Given the description of an element on the screen output the (x, y) to click on. 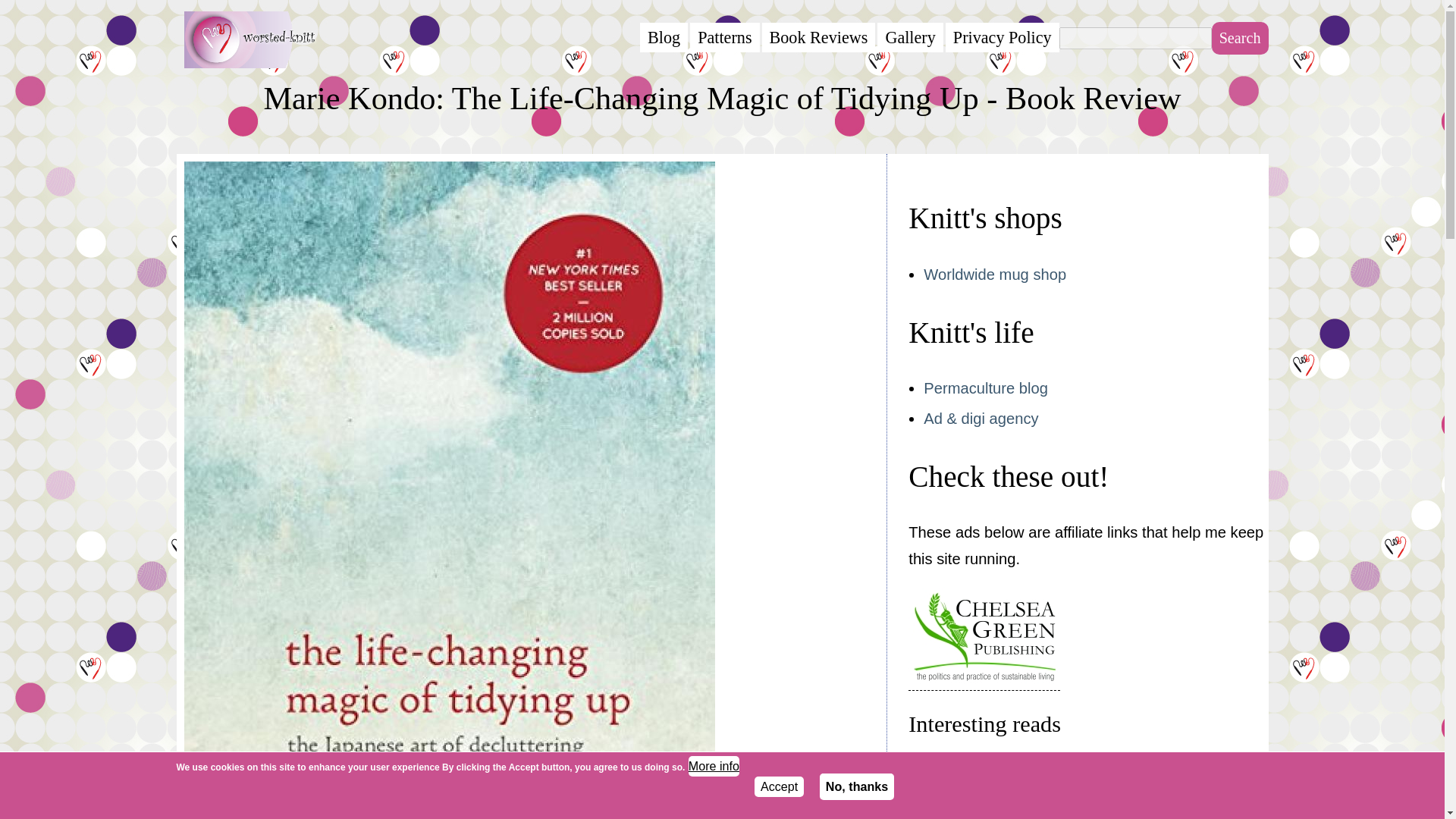
Gallery (909, 37)
Search (1239, 38)
Enter the terms you wish to search for. (1135, 38)
Blog (663, 37)
Book Reviews (818, 37)
Worldwide mug shop (994, 274)
Privacy Policy (1001, 37)
Book reviews by Worsted Knitt (818, 37)
Search (1239, 38)
